Given the description of an element on the screen output the (x, y) to click on. 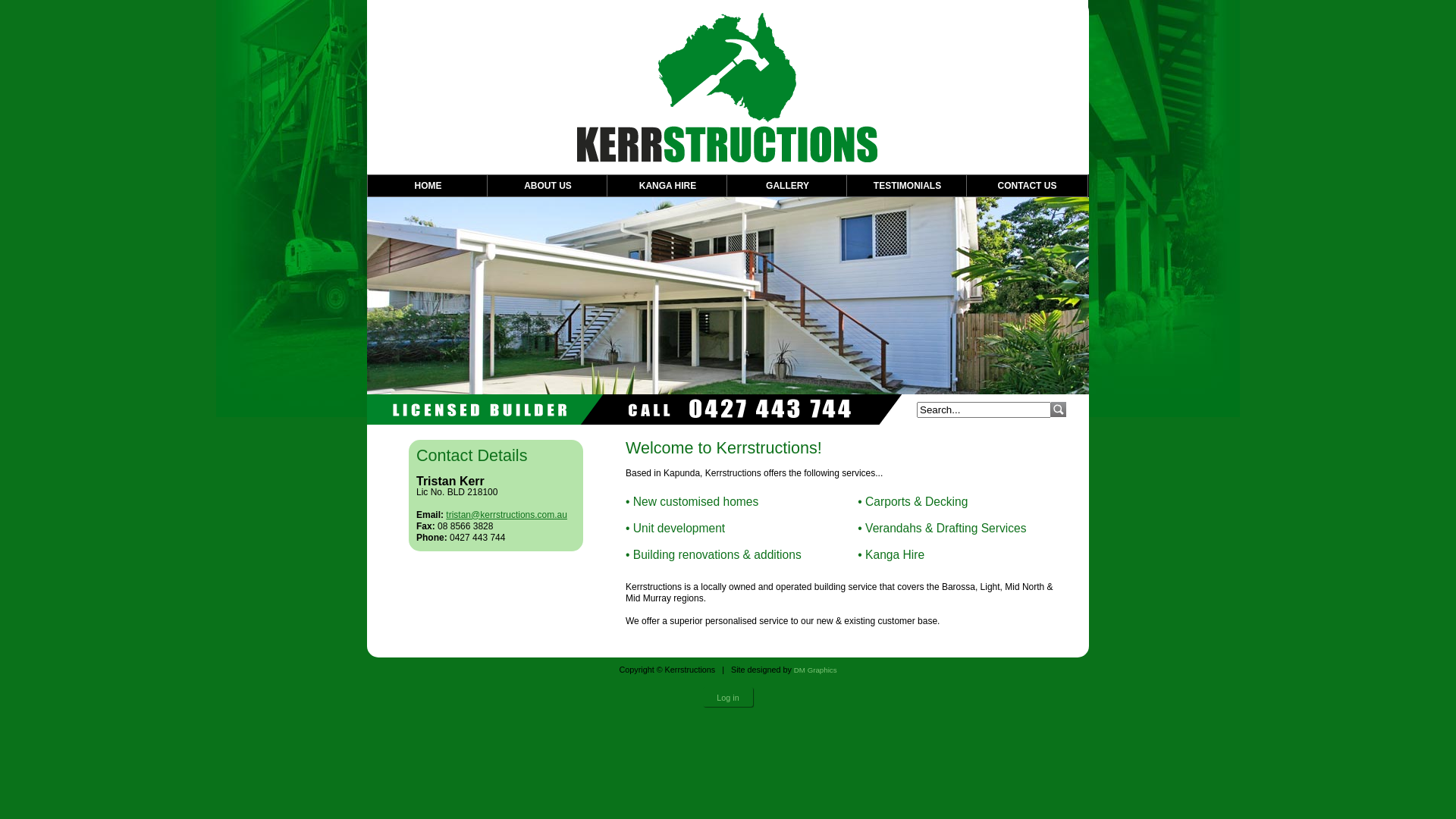
GALLERY Element type: text (787, 185)
DM Graphics Element type: text (815, 669)
TESTIMONIALS Element type: text (907, 185)
tristan@kerrstructions.com.au Element type: text (506, 514)
HOME Element type: text (428, 185)
CONTACT US Element type: text (1027, 185)
ABOUT US Element type: text (547, 185)
KANGA HIRE Element type: text (667, 185)
